Given the description of an element on the screen output the (x, y) to click on. 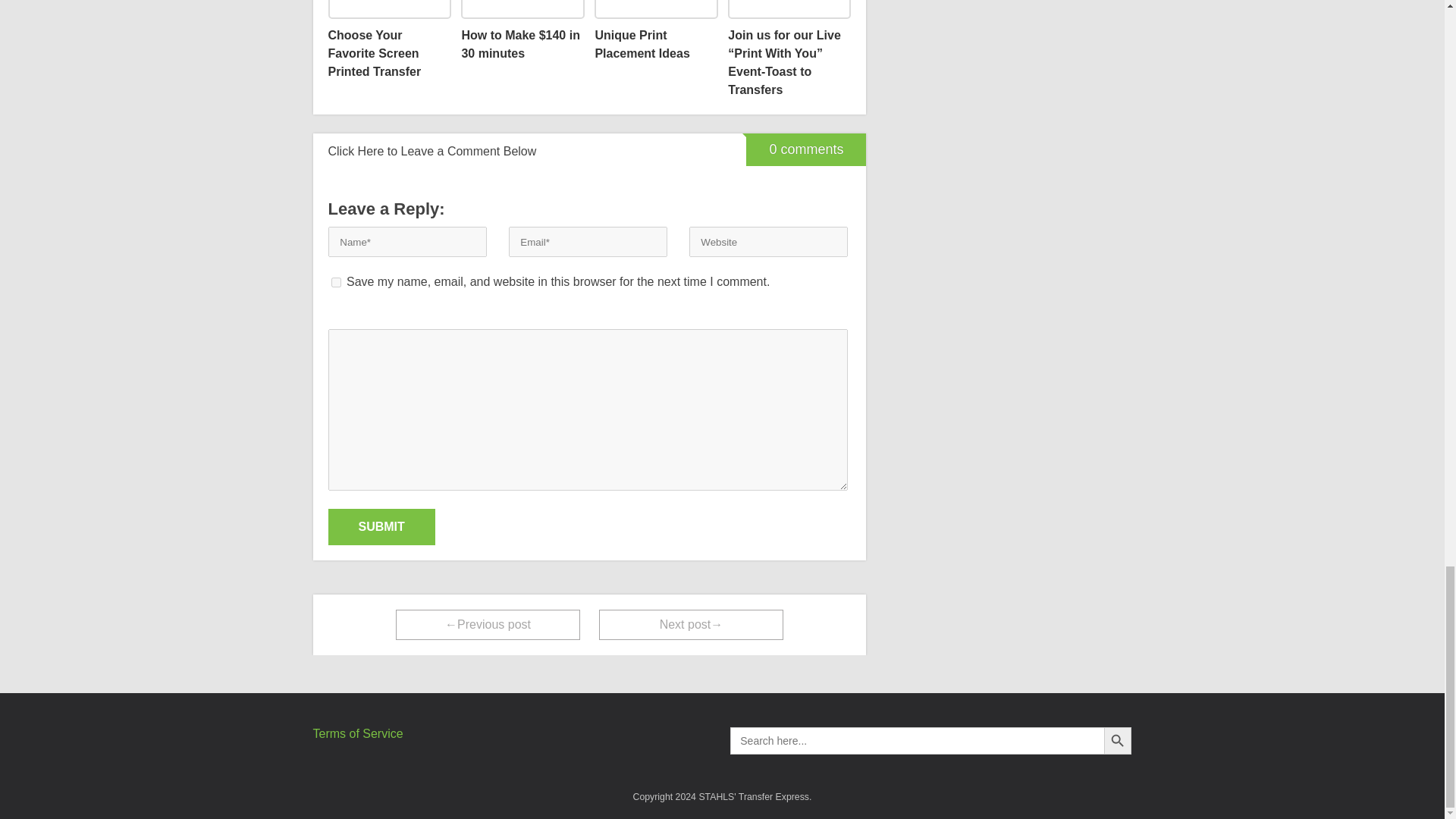
Terms of Service (358, 733)
SUBMIT (380, 526)
Search Button (1117, 740)
Choose Your Favorite Screen Printed Transfer (388, 40)
yes (335, 282)
SUBMIT (380, 526)
Unique Print Placement Ideas (655, 31)
